Given the description of an element on the screen output the (x, y) to click on. 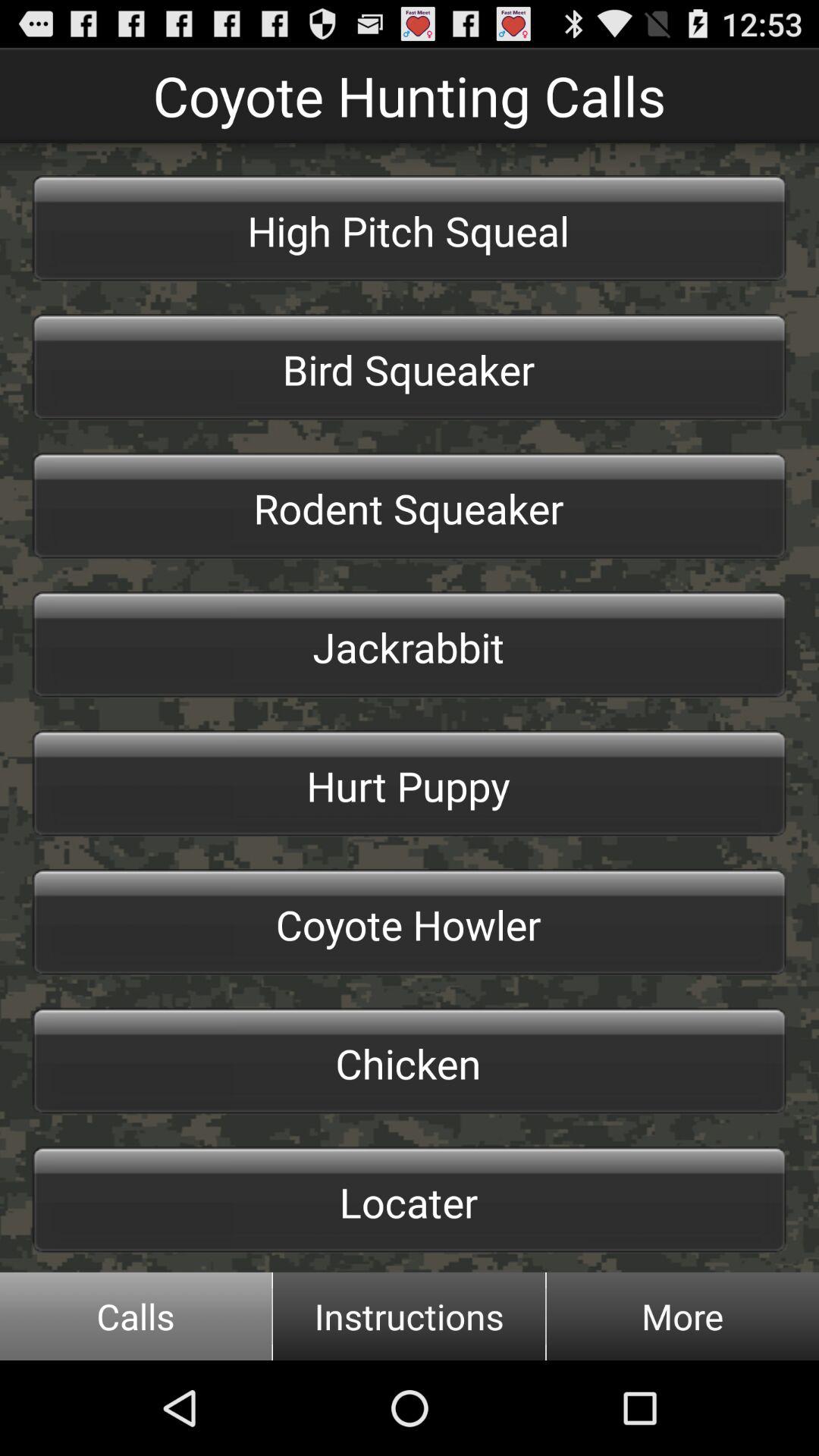
scroll until the bird squeaker icon (409, 366)
